Given the description of an element on the screen output the (x, y) to click on. 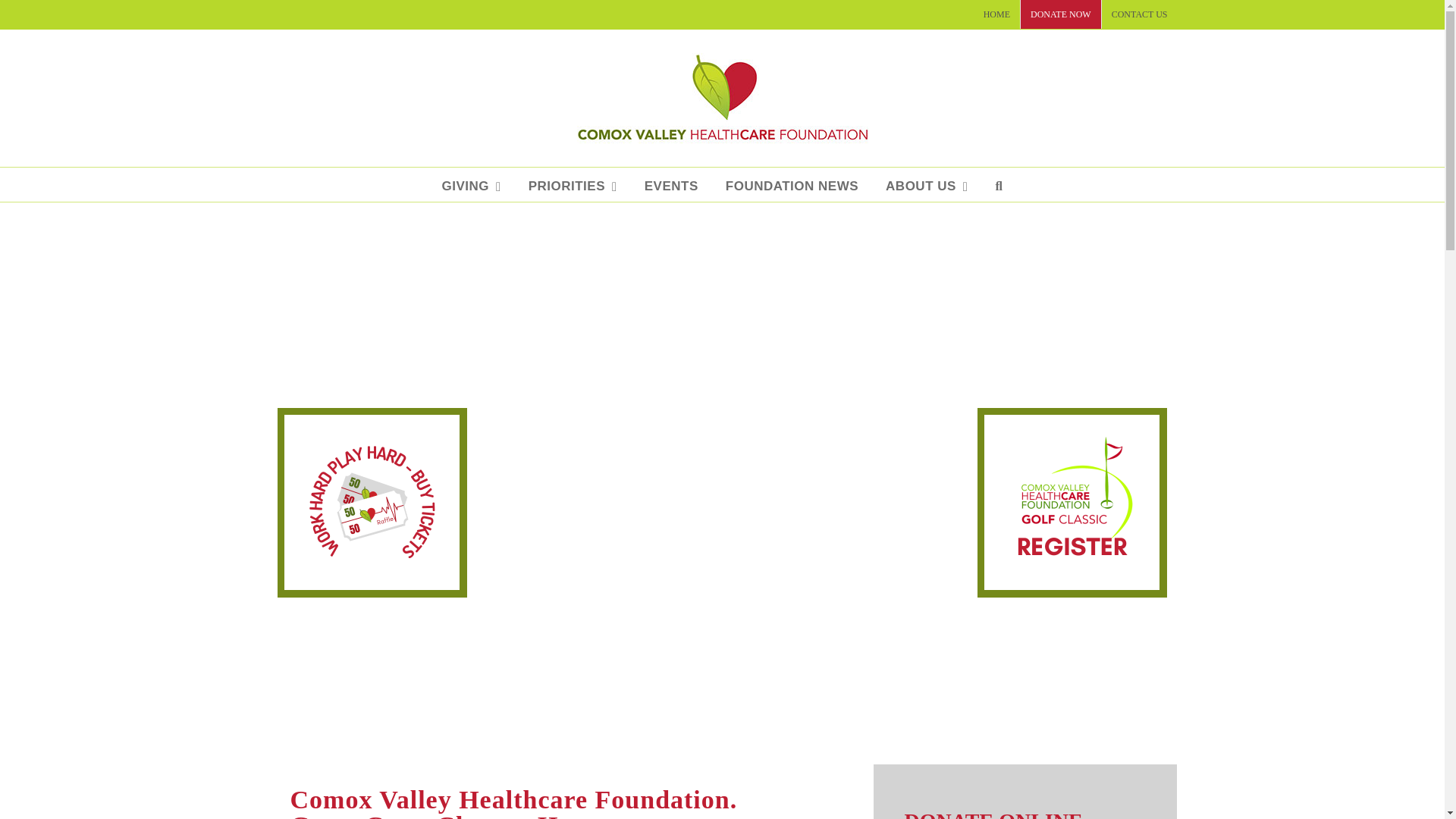
CONTACT US (1139, 14)
FOUNDATION NEWS (792, 184)
DONATE NOW (1060, 14)
EVENTS (671, 184)
ABOUT US (926, 184)
PRIORITIES (572, 184)
GIVING (470, 184)
HOME (997, 14)
